Given the description of an element on the screen output the (x, y) to click on. 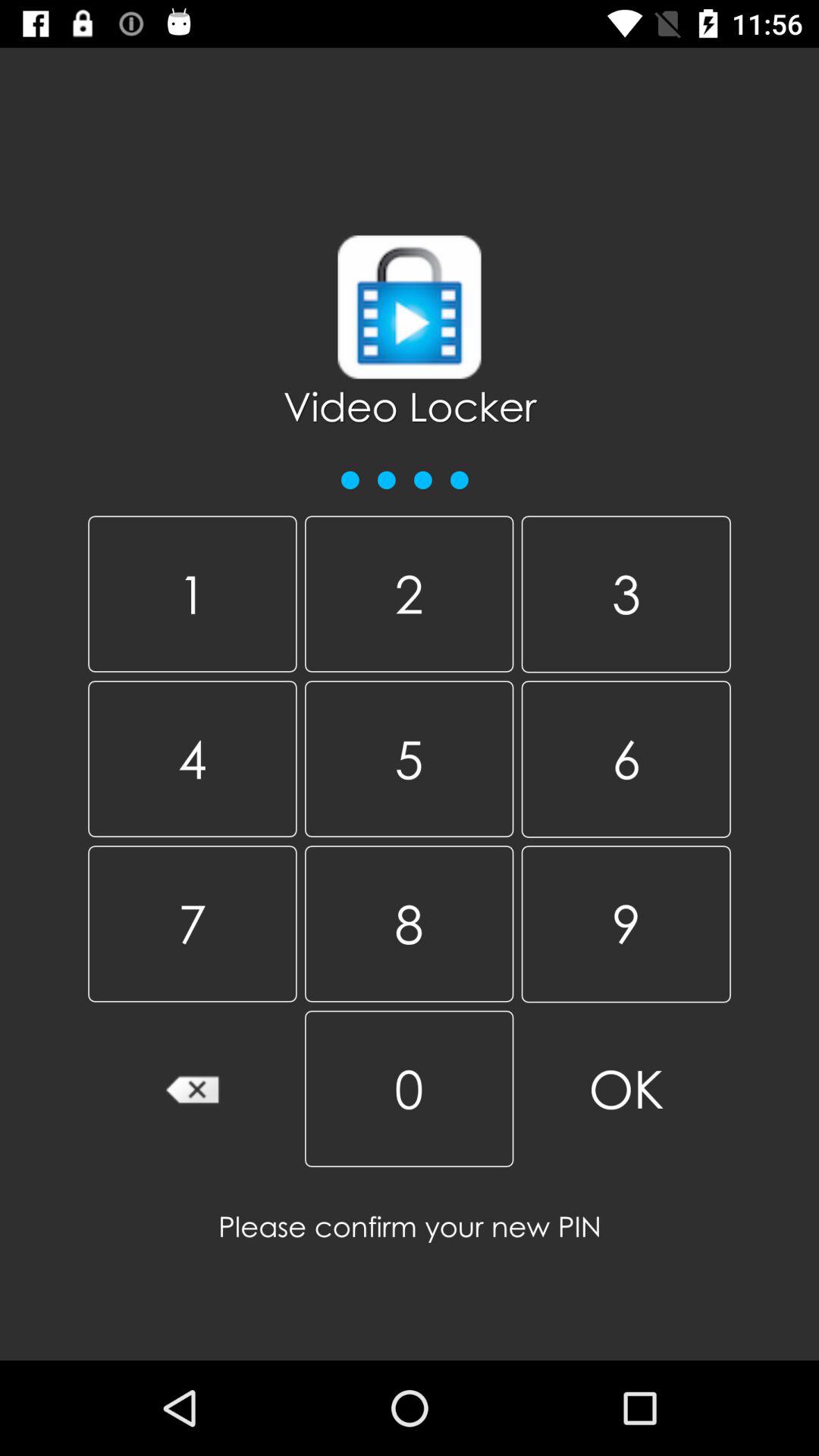
swipe to the 5 icon (408, 758)
